Given the description of an element on the screen output the (x, y) to click on. 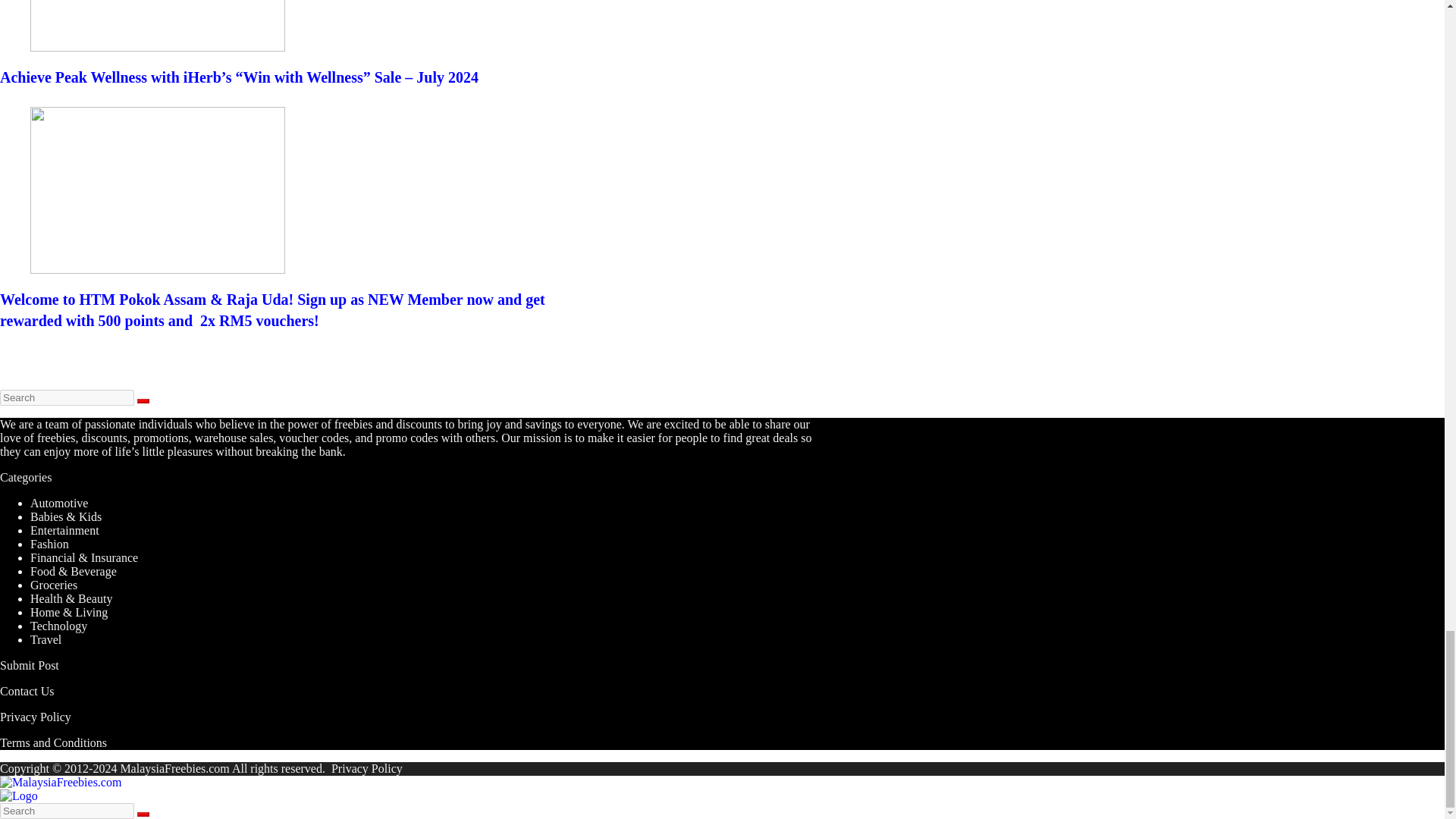
Entertainment (64, 530)
Automotive (58, 502)
